Given the description of an element on the screen output the (x, y) to click on. 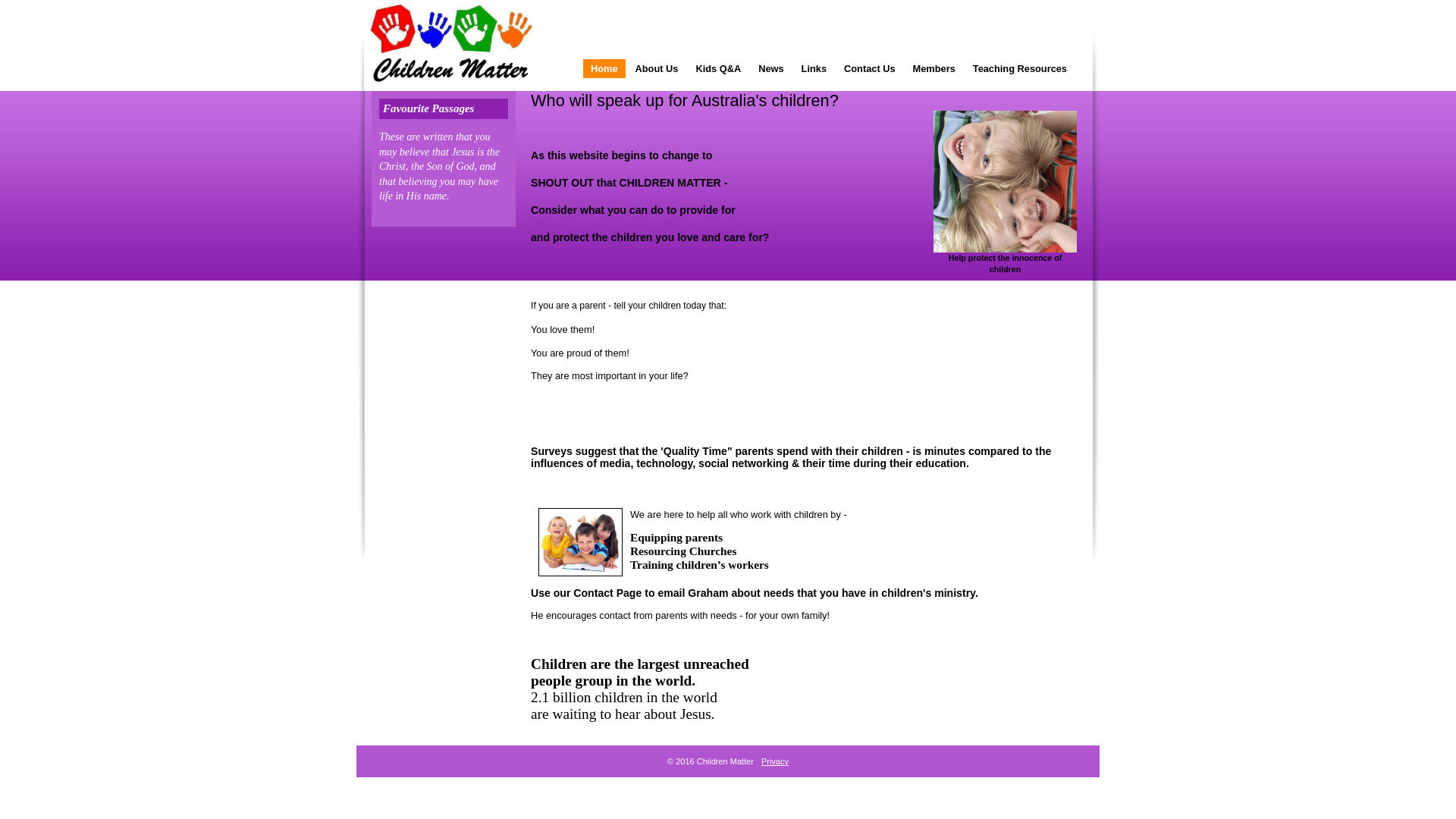
Teaching Resources Element type: text (1019, 68)
Members Element type: text (934, 68)
About Us Element type: text (656, 68)
Home Element type: text (604, 68)
Contact Us Element type: text (869, 68)
Kids Q&A Element type: text (717, 68)
News Element type: text (770, 68)
Help protect the innocence of children Element type: hover (1004, 181)
Links Element type: text (813, 68)
Privacy Element type: text (774, 760)
